Given the description of an element on the screen output the (x, y) to click on. 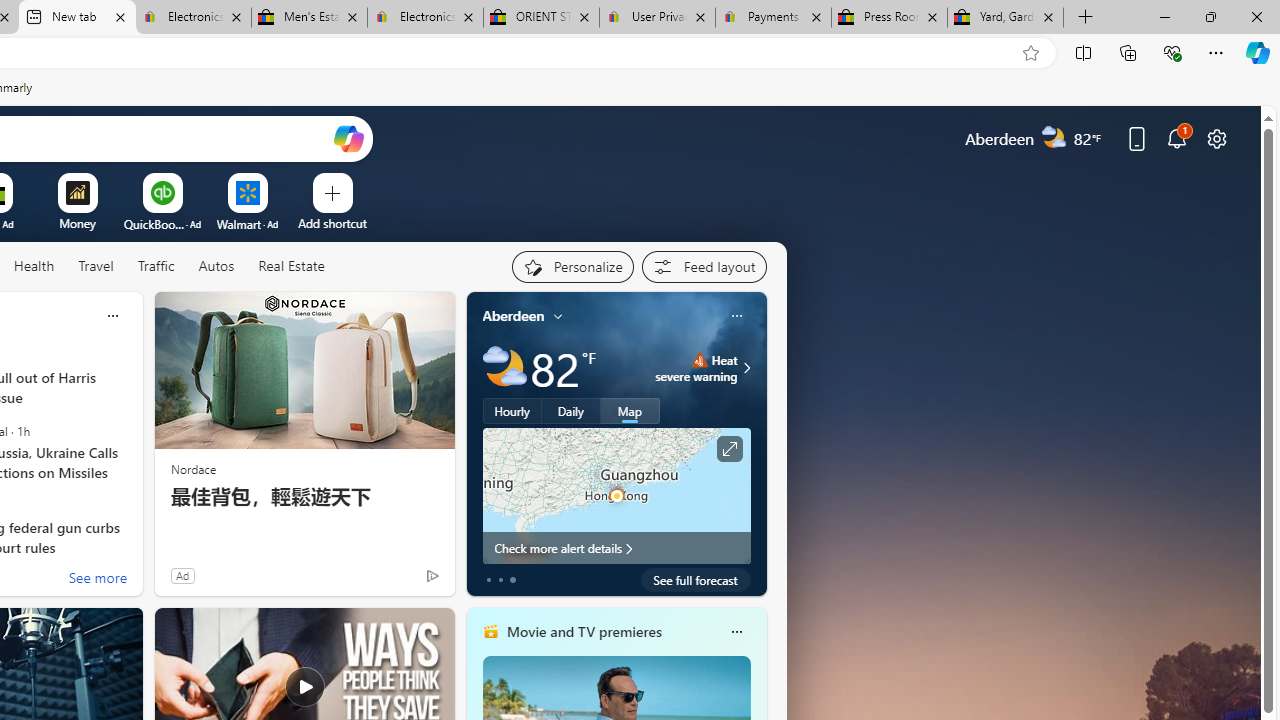
Partly cloudy (504, 368)
Traffic (155, 267)
Travel (95, 265)
Yard, Garden & Outdoor Living (1005, 17)
Class: weather-arrow-glyph (746, 367)
Class: icon-img (736, 632)
Map (630, 411)
